Given the description of an element on the screen output the (x, y) to click on. 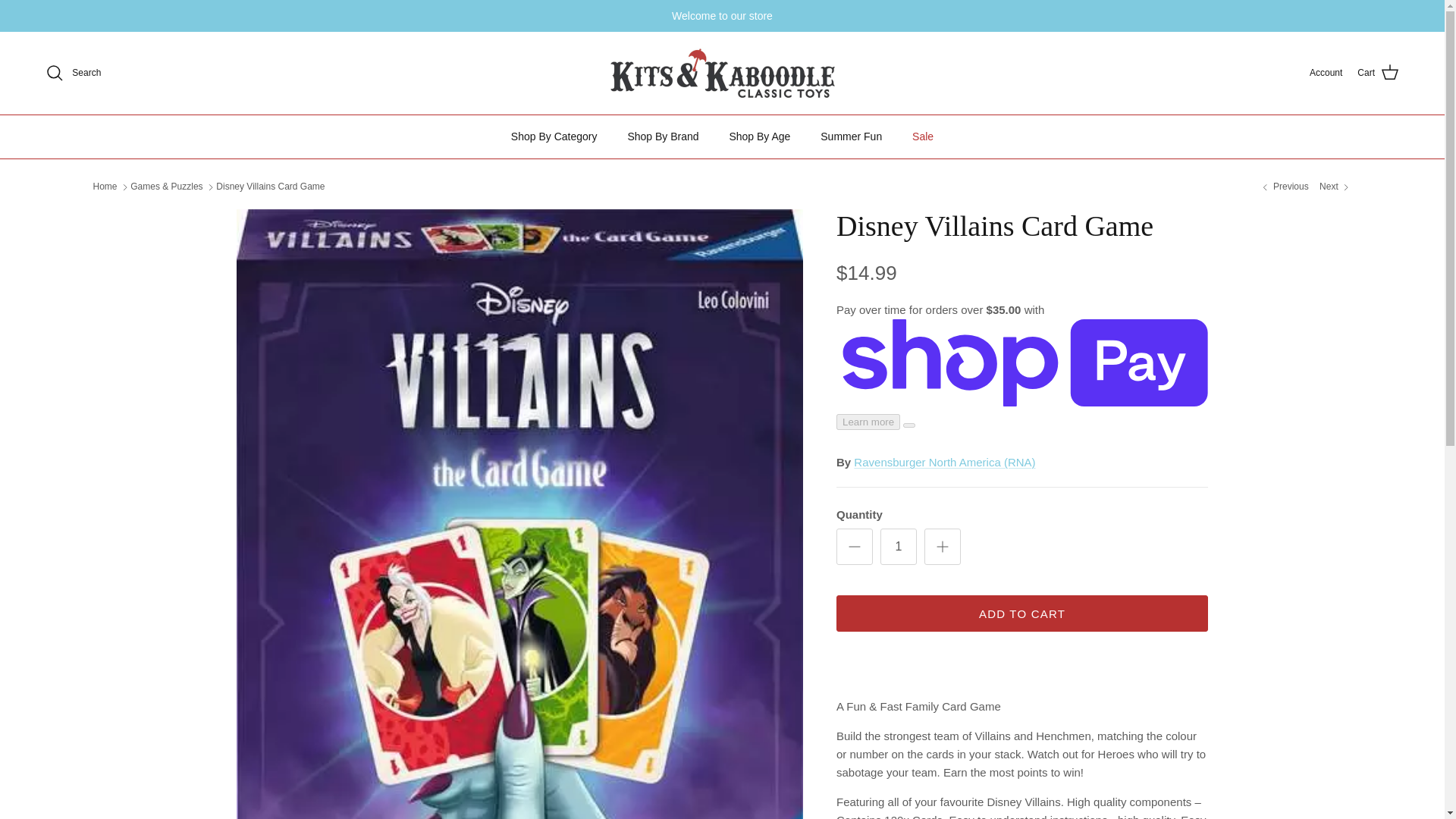
Snail's Pace Race (1283, 186)
Account (1325, 73)
Shop By Age (758, 136)
Shop By Brand (661, 136)
kitsandkaboodle (721, 72)
Enchanted Forest (1335, 186)
Cart (1377, 72)
Search (72, 72)
Shop By Category (554, 136)
1 (898, 546)
